Given the description of an element on the screen output the (x, y) to click on. 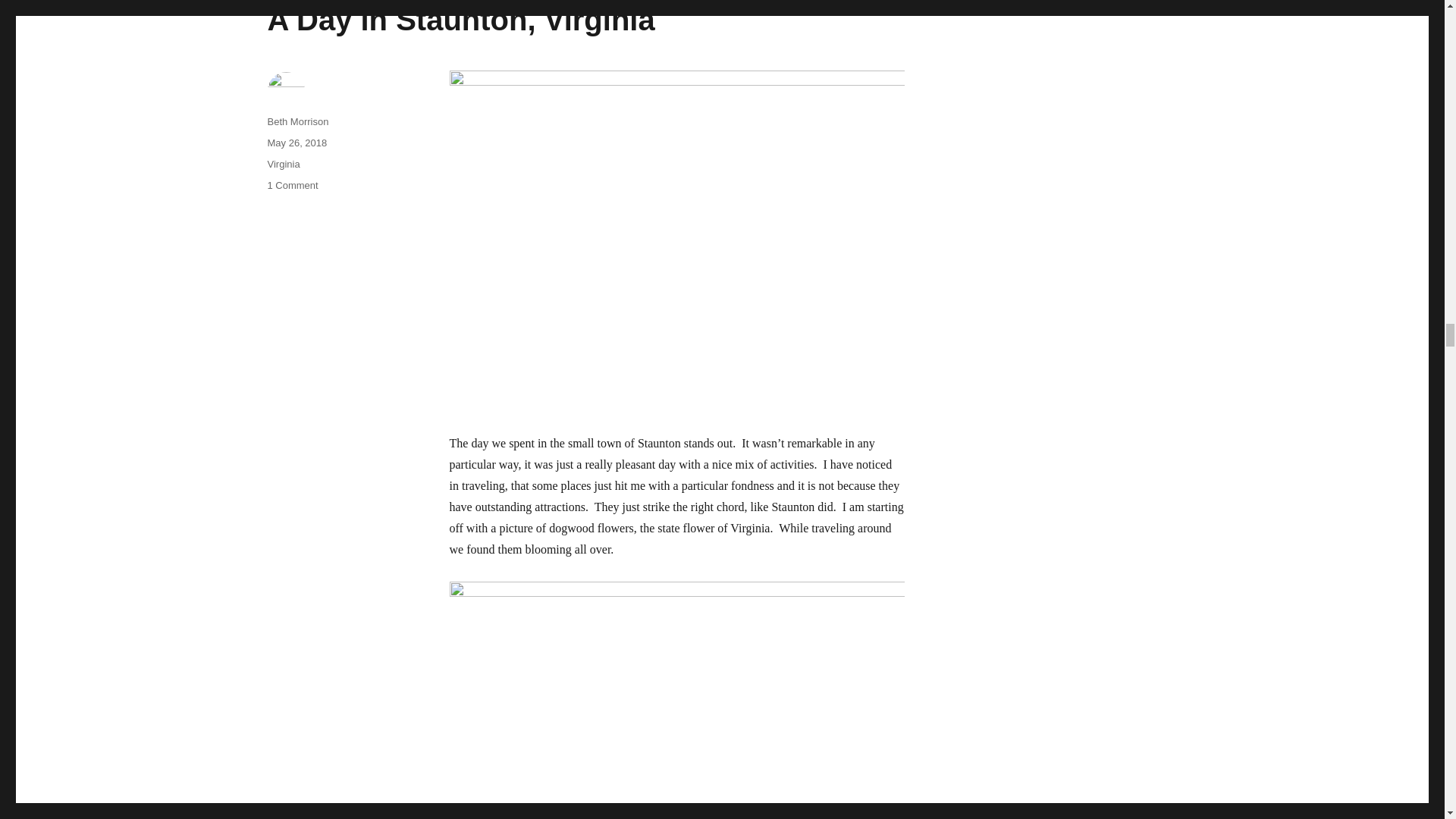
May 26, 2018 (296, 142)
A Day in Staunton, Virginia (459, 19)
Virginia (282, 163)
Beth Morrison (297, 121)
